Given the description of an element on the screen output the (x, y) to click on. 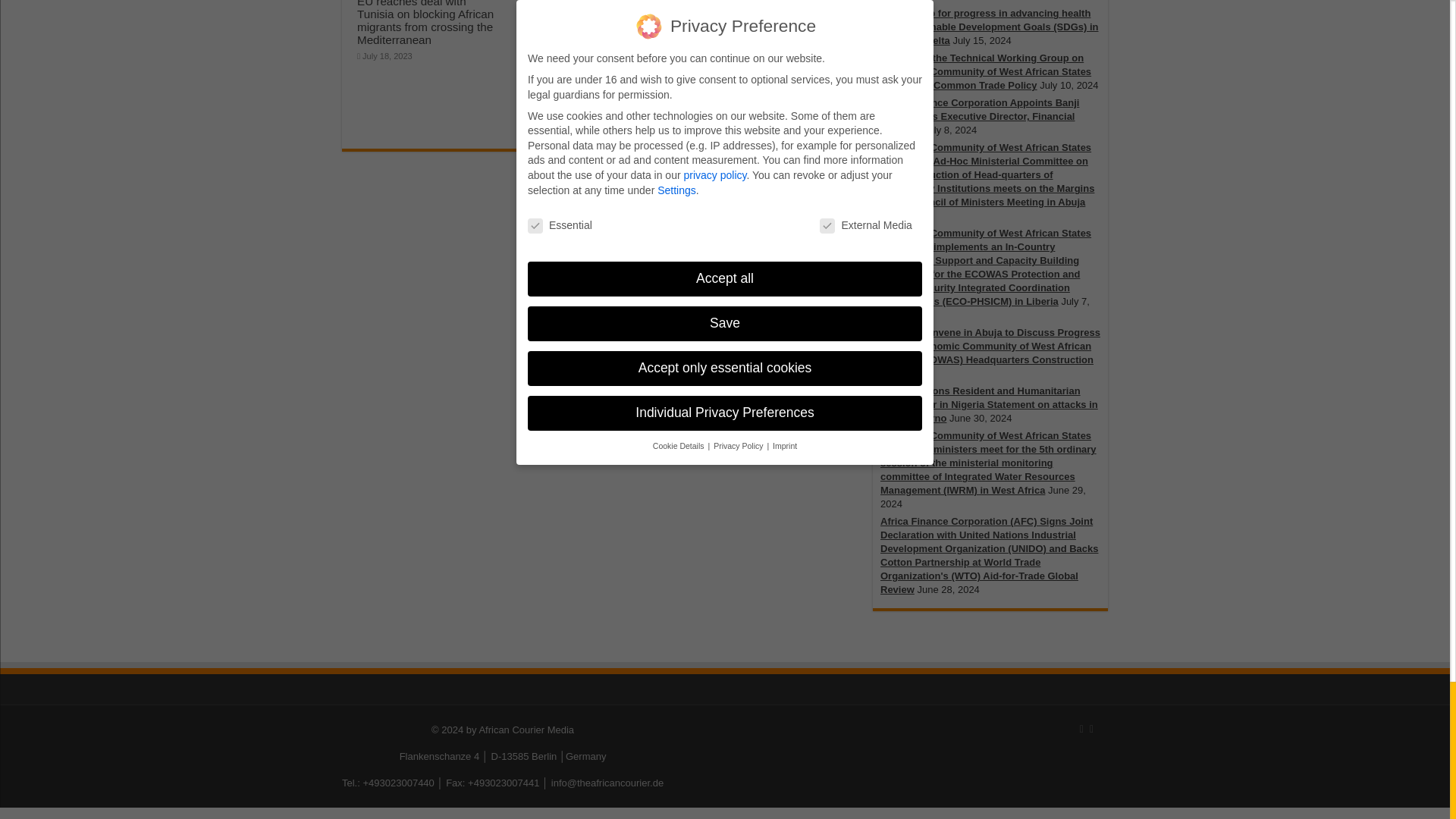
Facebook (1081, 729)
Twitter (1090, 729)
